Given the description of an element on the screen output the (x, y) to click on. 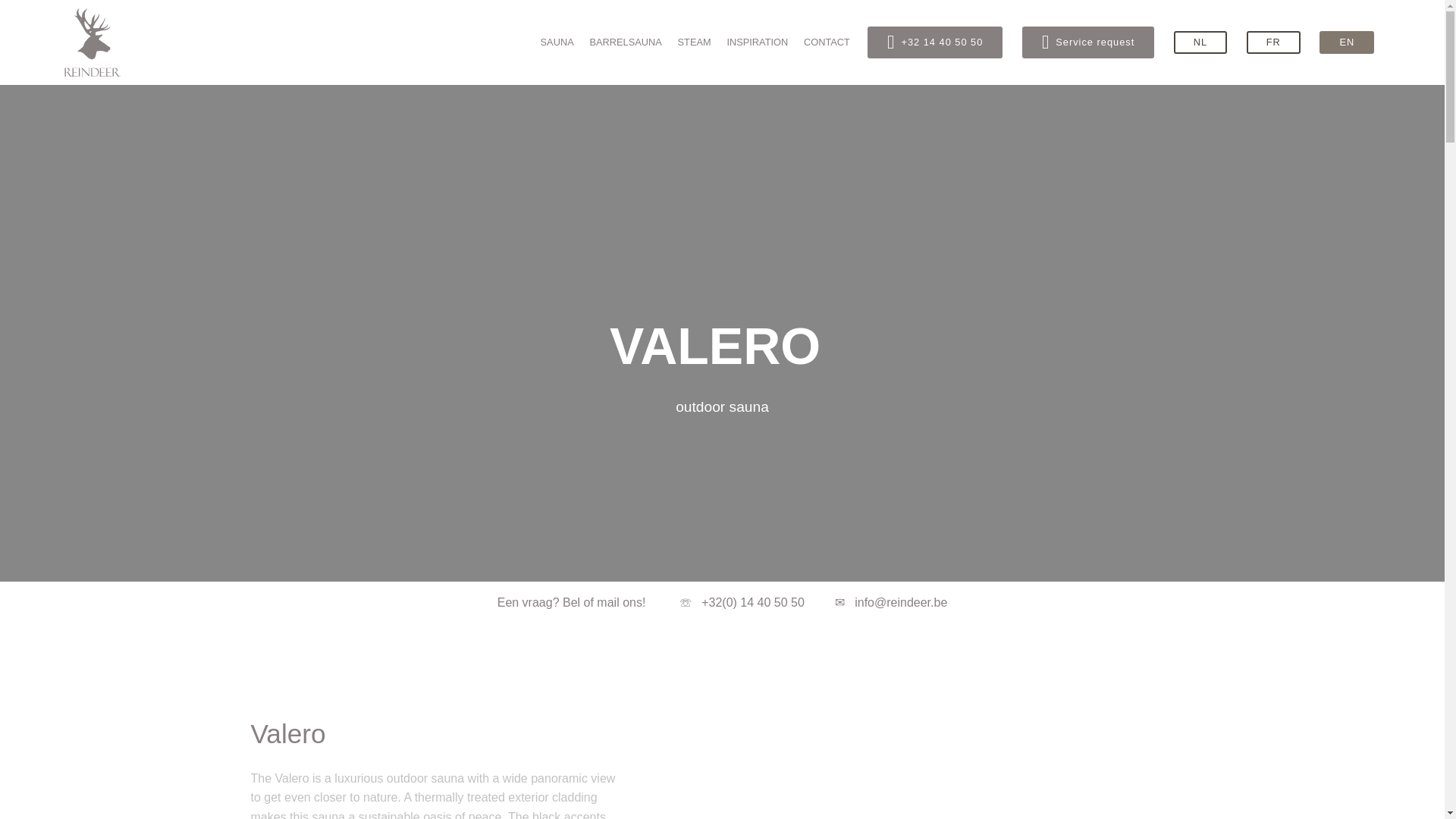
NL (1200, 42)
EN (1346, 42)
SAUNA (556, 41)
STEAM (694, 41)
CONTACT (826, 41)
INSPIRATION (756, 41)
BARRELSAUNA (625, 41)
Service request (1088, 42)
FR (1273, 42)
